Given the description of an element on the screen output the (x, y) to click on. 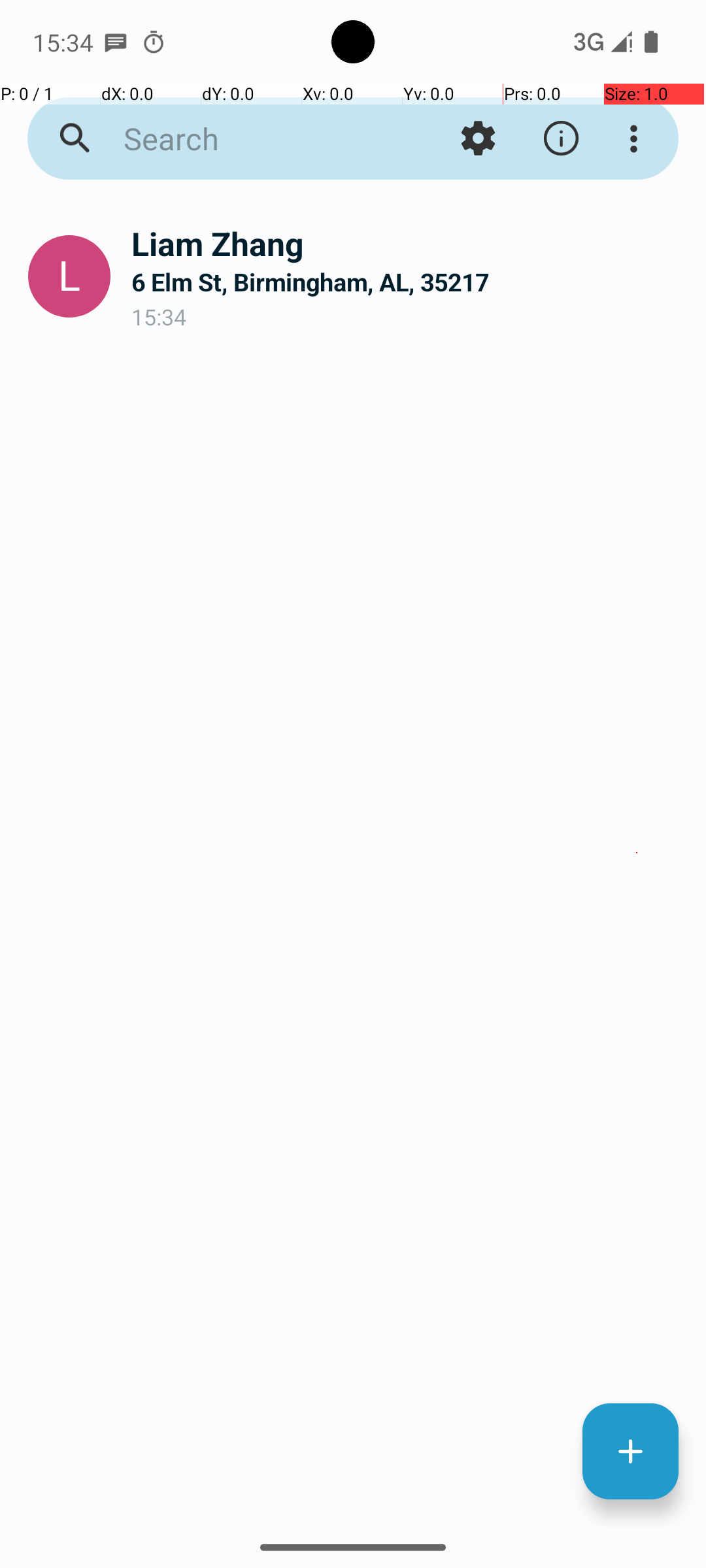
Liam Zhang Element type: android.widget.TextView (408, 242)
6 Elm St, Birmingham, AL, 35217 Element type: android.widget.TextView (408, 281)
SMS Messenger notification: Liam Zhang Element type: android.widget.ImageView (115, 41)
